Given the description of an element on the screen output the (x, y) to click on. 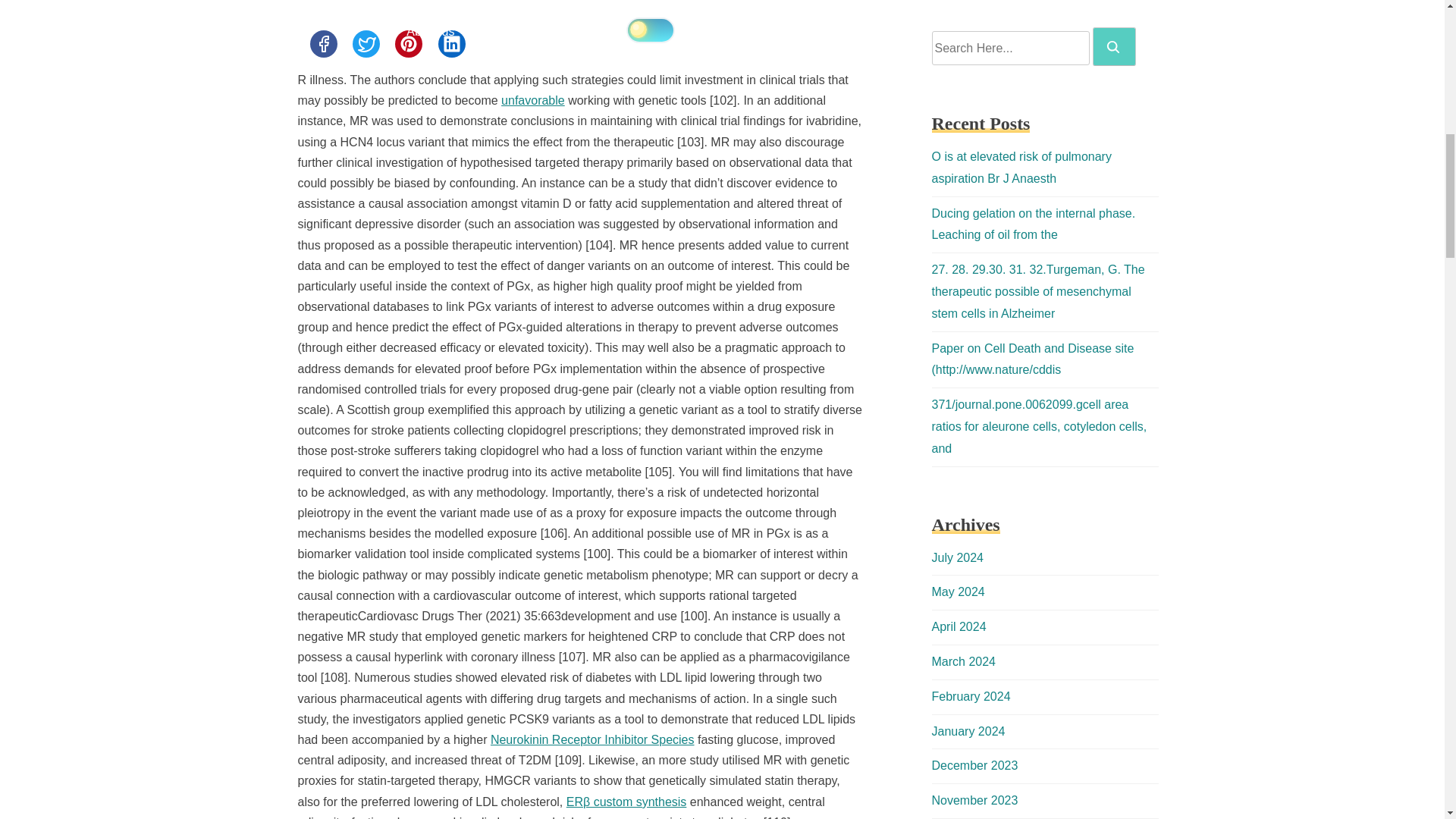
Search (1113, 46)
O is at elevated risk of pulmonary aspiration Br J Anaesth (1020, 167)
Search (1114, 46)
Share this post on Linkedin (451, 43)
Share this post on Facebook (322, 43)
unfavorable (532, 100)
Neurokinin Receptor Inhibitor Species (592, 739)
Share this post on Twitter (366, 43)
Share this post on Pinterest (408, 43)
